Given the description of an element on the screen output the (x, y) to click on. 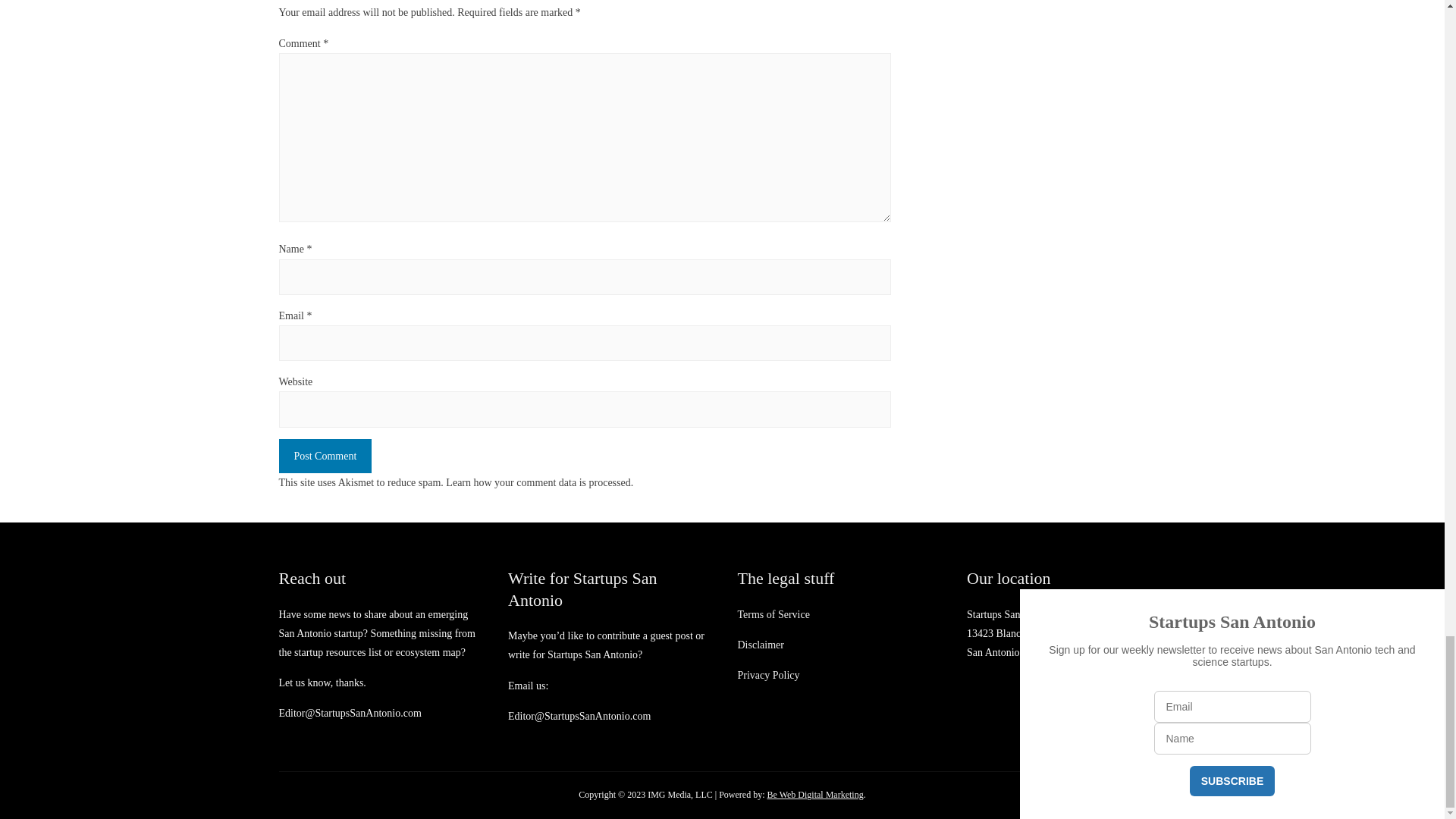
Post Comment (325, 455)
Be Web Digital Marketing (815, 794)
